Given the description of an element on the screen output the (x, y) to click on. 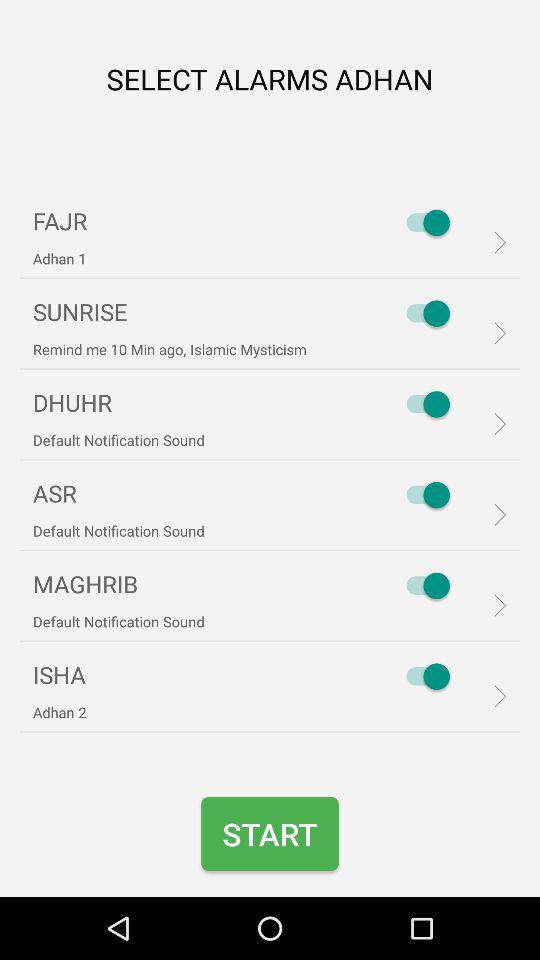
on-off (423, 222)
